Given the description of an element on the screen output the (x, y) to click on. 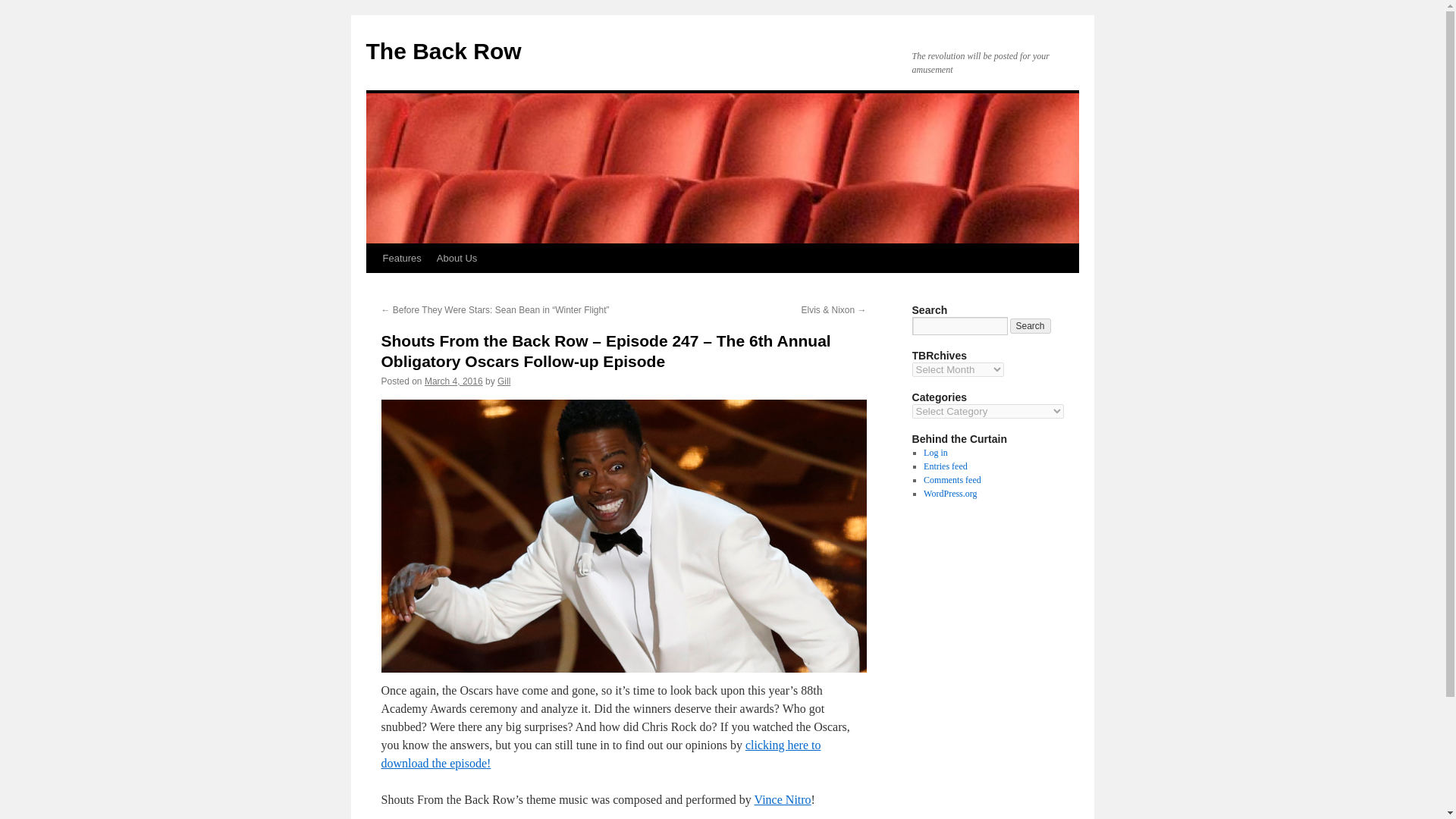
Entries feed (945, 466)
1:00 pm (454, 380)
Comments feed (952, 480)
Search (1030, 325)
Features (401, 258)
Gill (504, 380)
WordPress.org (949, 493)
March 4, 2016 (454, 380)
clicking here to download the episode! (600, 753)
Search (1030, 325)
View all posts by Gill (504, 380)
The Back Row (443, 50)
Log in (935, 452)
About Us (456, 258)
Vince Nitro (782, 799)
